Given the description of an element on the screen output the (x, y) to click on. 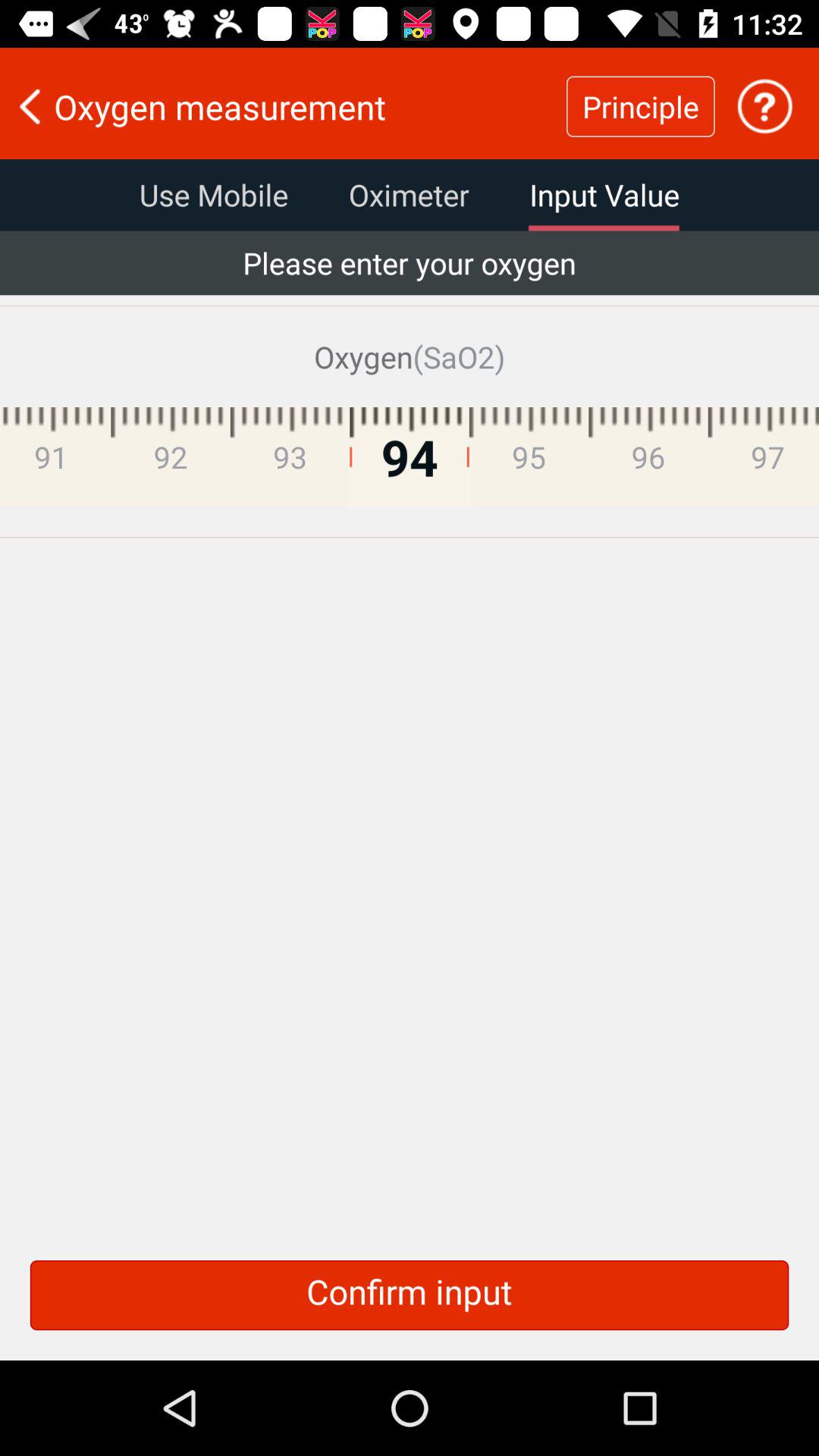
choose confirm input (409, 1295)
